Given the description of an element on the screen output the (x, y) to click on. 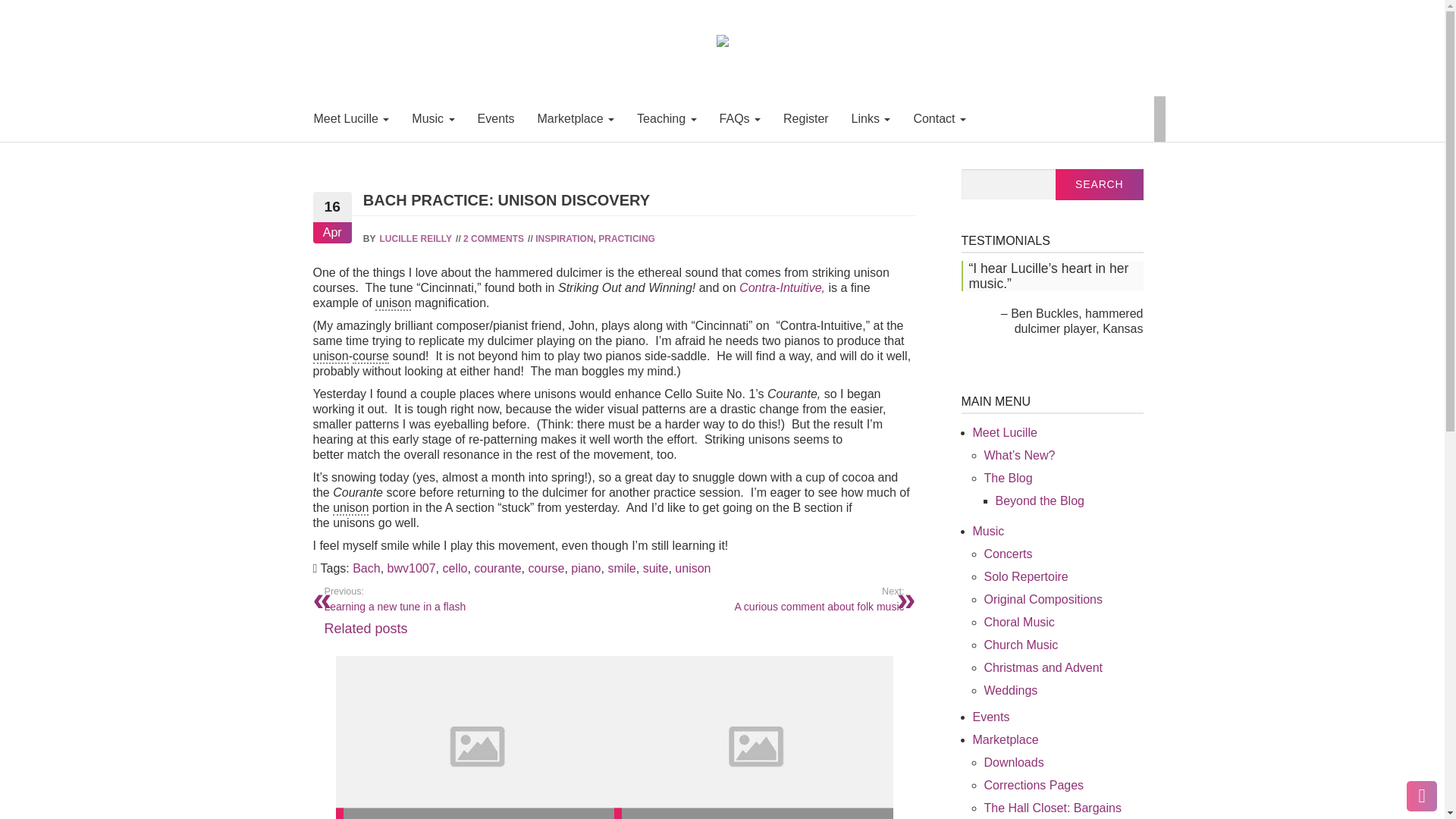
FAQs (739, 118)
Teaching (666, 118)
Meet Lucille (350, 118)
Music (432, 118)
Marketplace (575, 118)
Register (805, 118)
Links (871, 118)
Search (1098, 183)
Events (495, 118)
Music (432, 118)
